Given the description of an element on the screen output the (x, y) to click on. 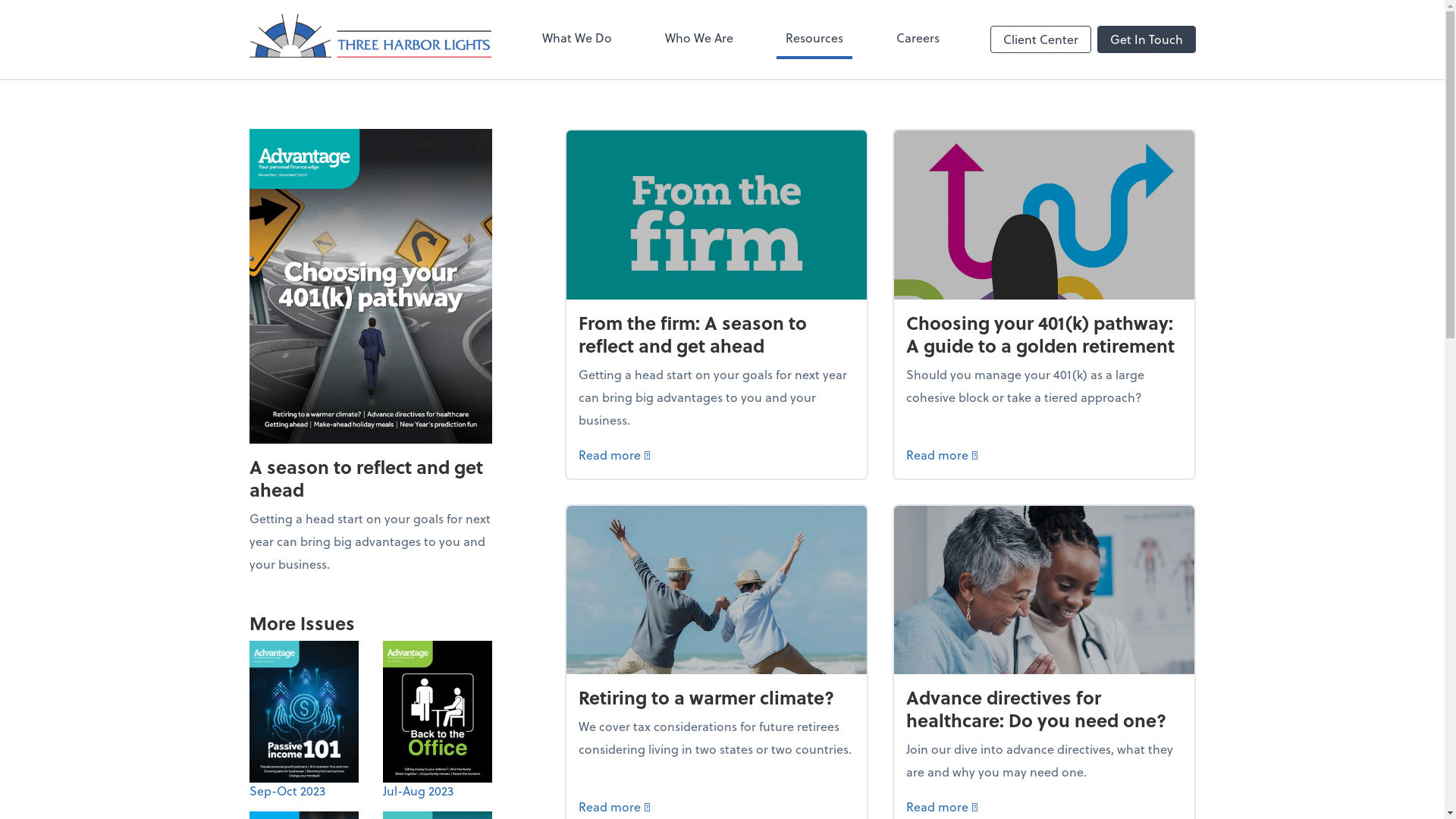
Sep-Oct 2023 Element type: text (302, 719)
Jul-Aug 2023 Element type: text (436, 719)
Resources Element type: text (814, 39)
Get In Touch Element type: text (1145, 39)
3HL Accountants Element type: text (369, 39)
Who We Are Element type: text (698, 39)
Client Center Element type: text (1040, 39)
What We Do Element type: text (577, 39)
Careers Element type: text (917, 39)
